Given the description of an element on the screen output the (x, y) to click on. 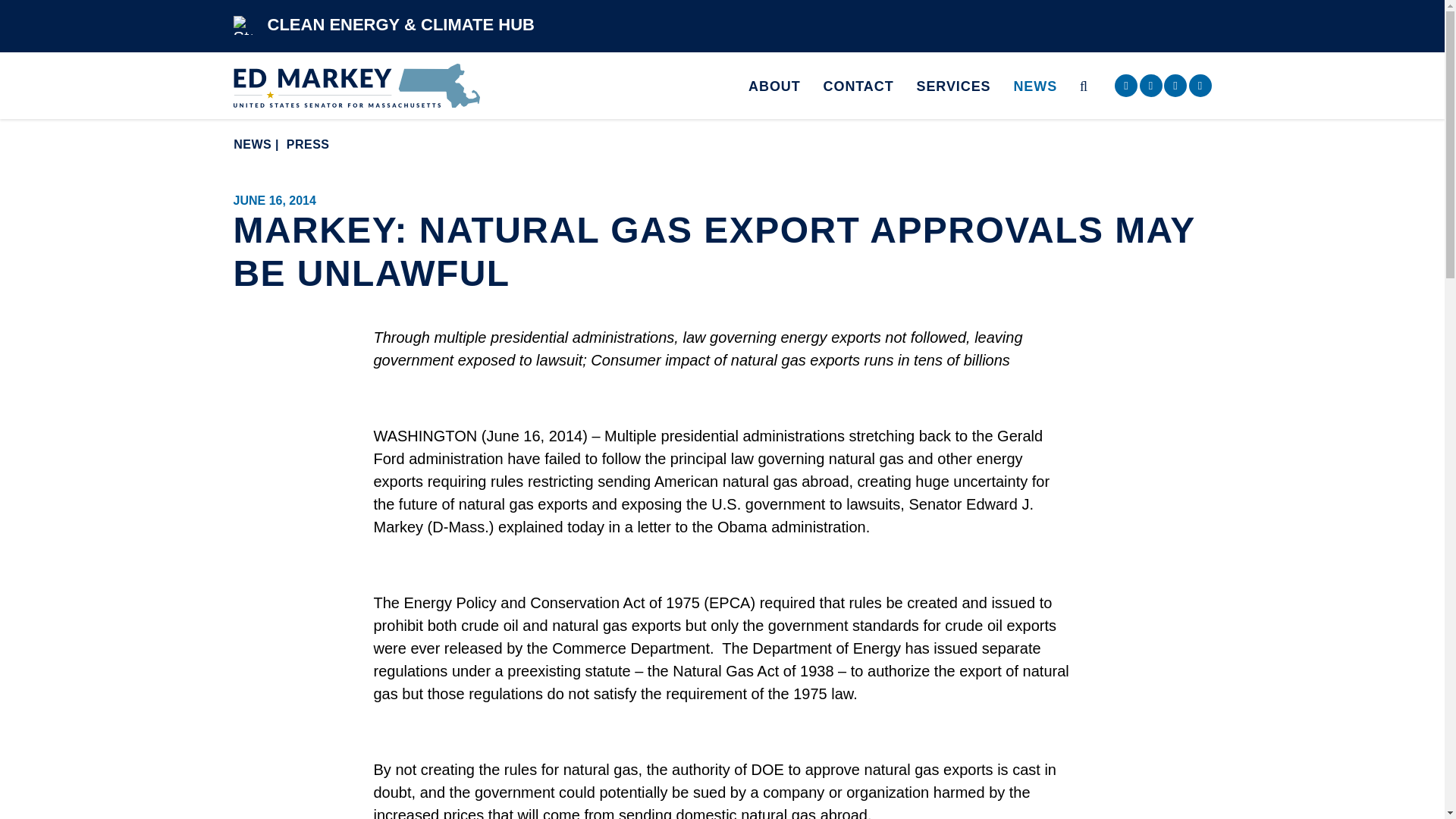
ABOUT (774, 85)
NEWS (1035, 85)
SERVICES (954, 85)
Senator Markey Twitter (1174, 85)
Senator Markey Instagram (1149, 85)
CONTACT (858, 85)
Senator Markey Youtube (1200, 85)
Senator Markey Facebook (1126, 85)
Senator Edward Markey of Massachusetts (356, 85)
